Given the description of an element on the screen output the (x, y) to click on. 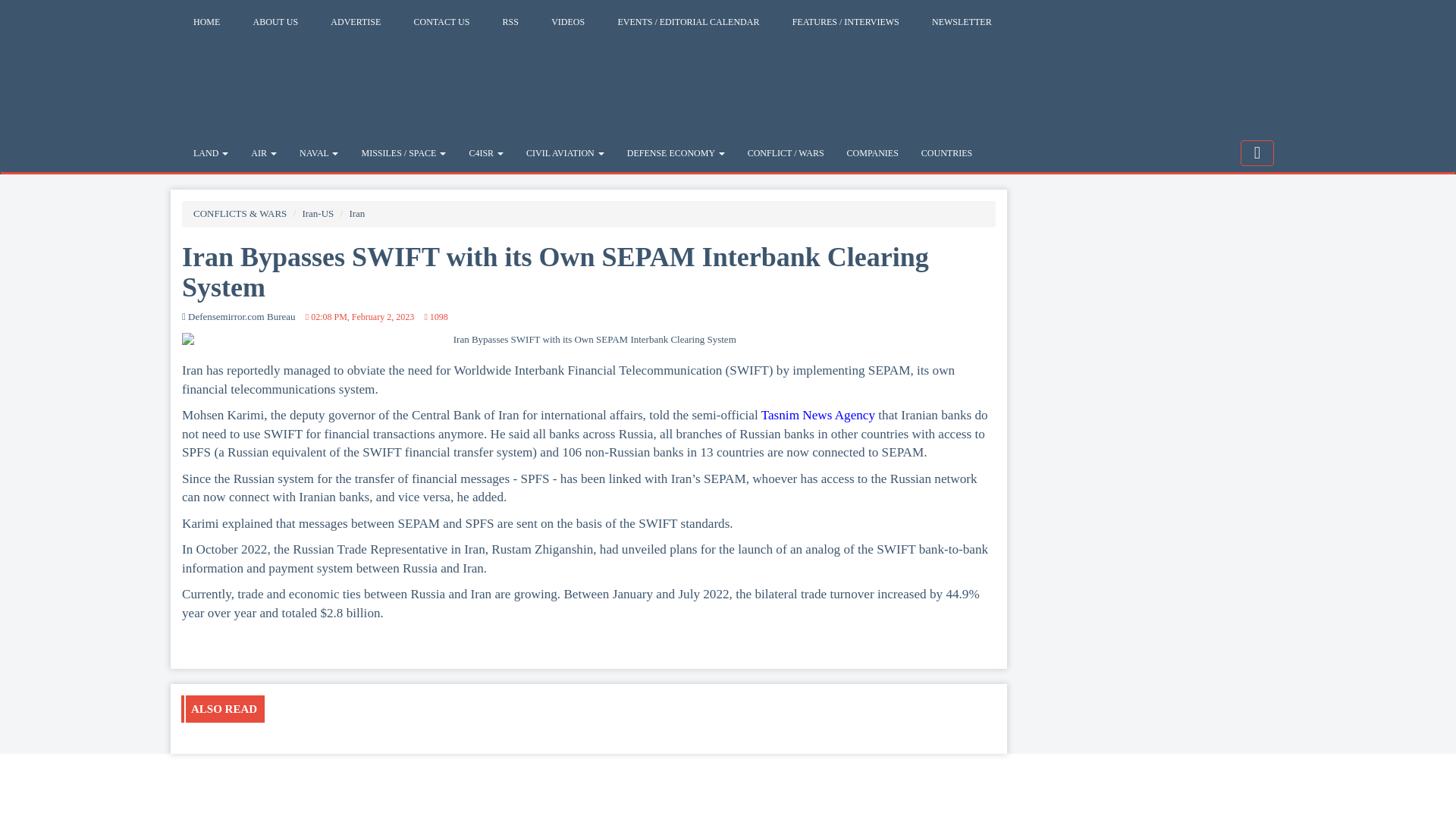
NAVAL (318, 152)
RSS (510, 21)
AIR (264, 152)
CONTACT US (442, 21)
ABOUT US (274, 21)
LAND (211, 152)
ADVERTISE (354, 21)
HOME (206, 21)
NEWSLETTER (961, 21)
DefenceMirror (276, 80)
VIDEOS (567, 21)
